Given the description of an element on the screen output the (x, y) to click on. 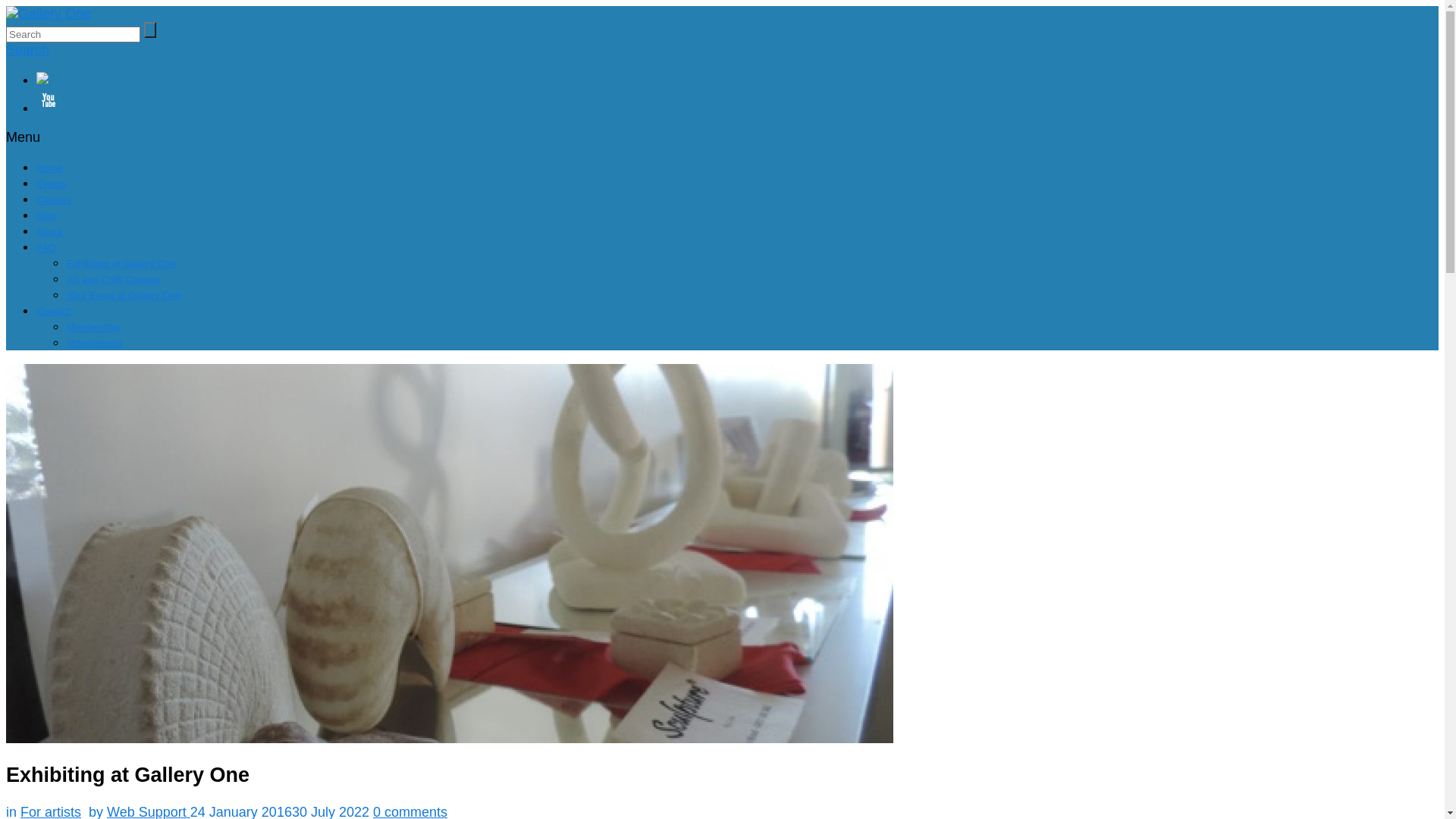
Exhibiting at Gallery One Element type: text (120, 263)
About Element type: text (49, 231)
Volunteering Element type: text (93, 342)
Art and Craft Classes Element type: text (113, 279)
Gallery One on YouTube Element type: hover (737, 101)
Gallery One on Facebook Element type: hover (737, 79)
Membership Element type: text (93, 326)
Events Element type: text (51, 183)
Contact Element type: text (53, 310)
Your Event at Gallery One Element type: text (123, 295)
Home Element type: text (49, 167)
Search Element type: text (27, 49)
Classes Element type: text (53, 199)
Blog Element type: text (46, 215)
FAQ Element type: text (46, 247)
